Given the description of an element on the screen output the (x, y) to click on. 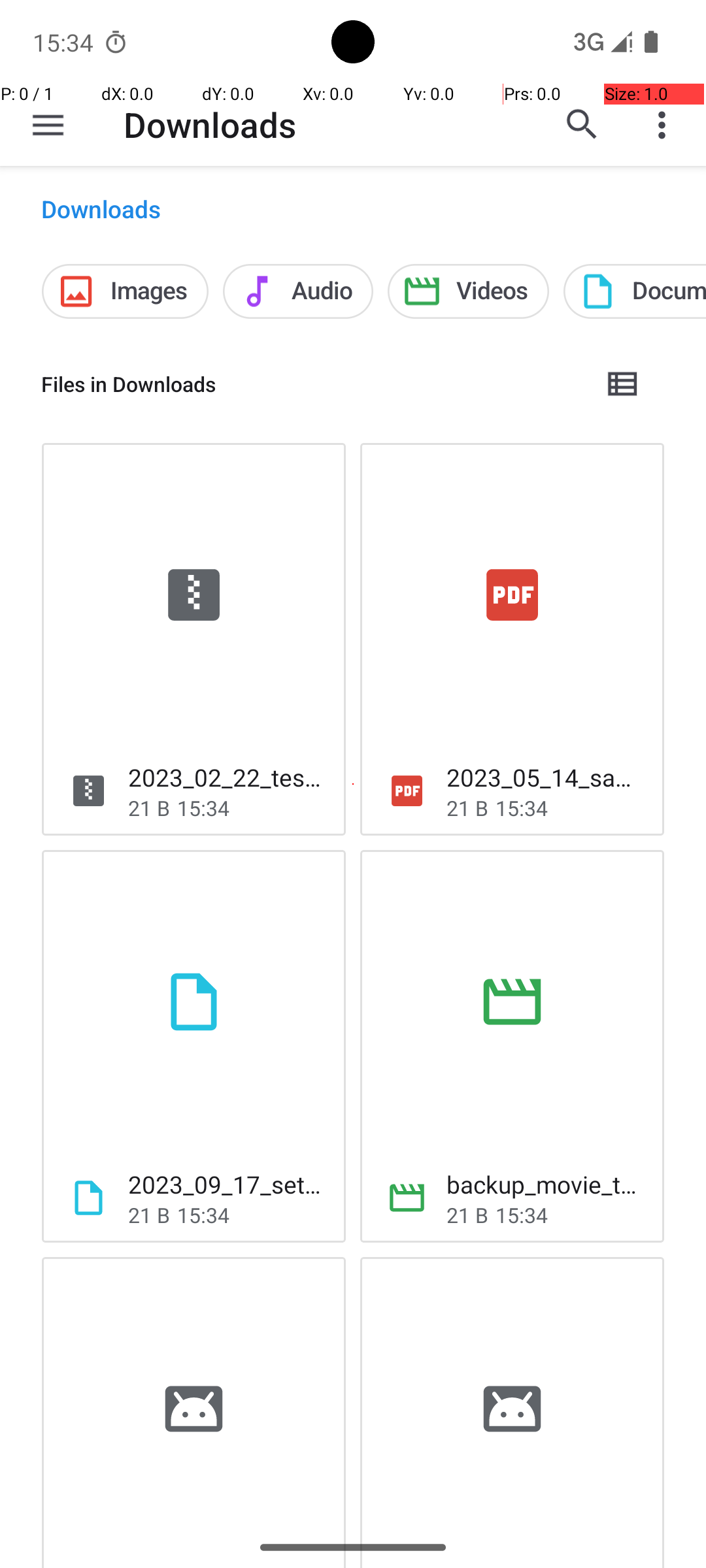
2023_02_22_test_download.zip Element type: android.widget.TextView (226, 776)
21 B Element type: android.widget.TextView (148, 807)
2023_05_14_sample_pdf.pdf Element type: android.widget.TextView (544, 776)
2023_09_17_setup_exe.exe Element type: android.widget.TextView (226, 1183)
backup_movie_trailer.mp4 Element type: android.widget.TextView (544, 1183)
